Given the description of an element on the screen output the (x, y) to click on. 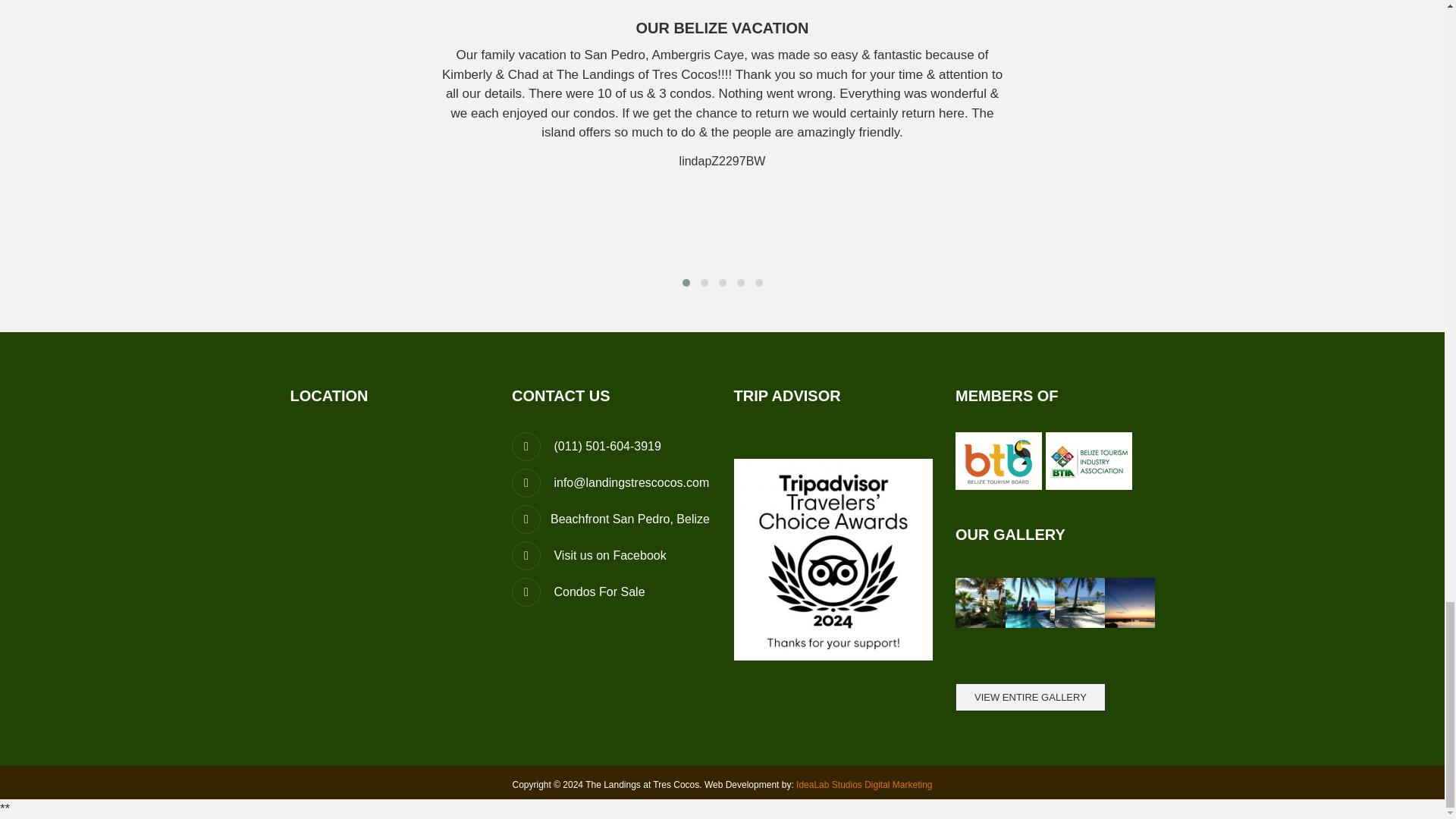
 Visit us on Facebook (589, 554)
Beachfront San Pedro, Belize (611, 518)
 Condos For Sale (578, 590)
